Given the description of an element on the screen output the (x, y) to click on. 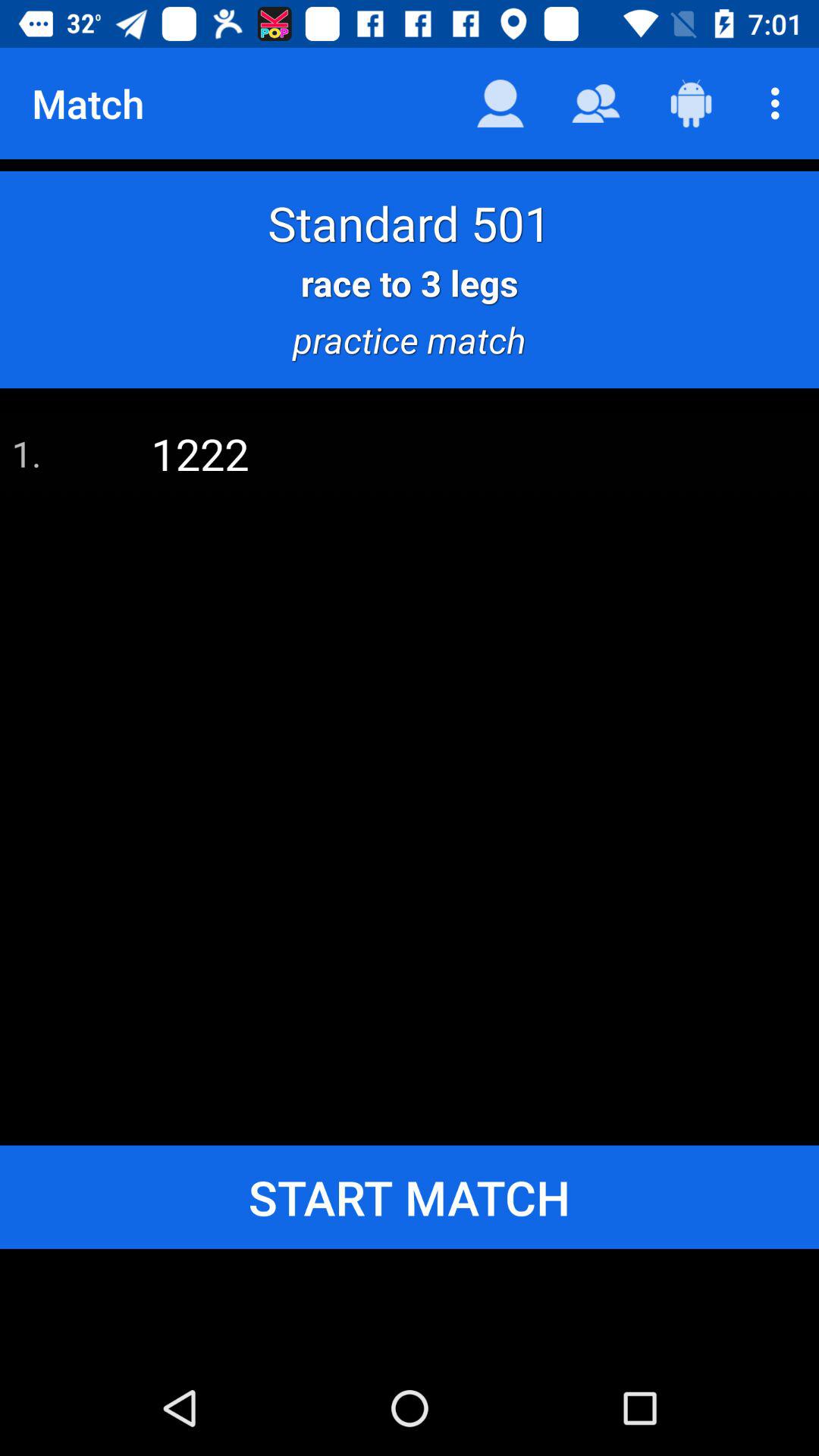
launch the item to the right of match item (500, 103)
